Given the description of an element on the screen output the (x, y) to click on. 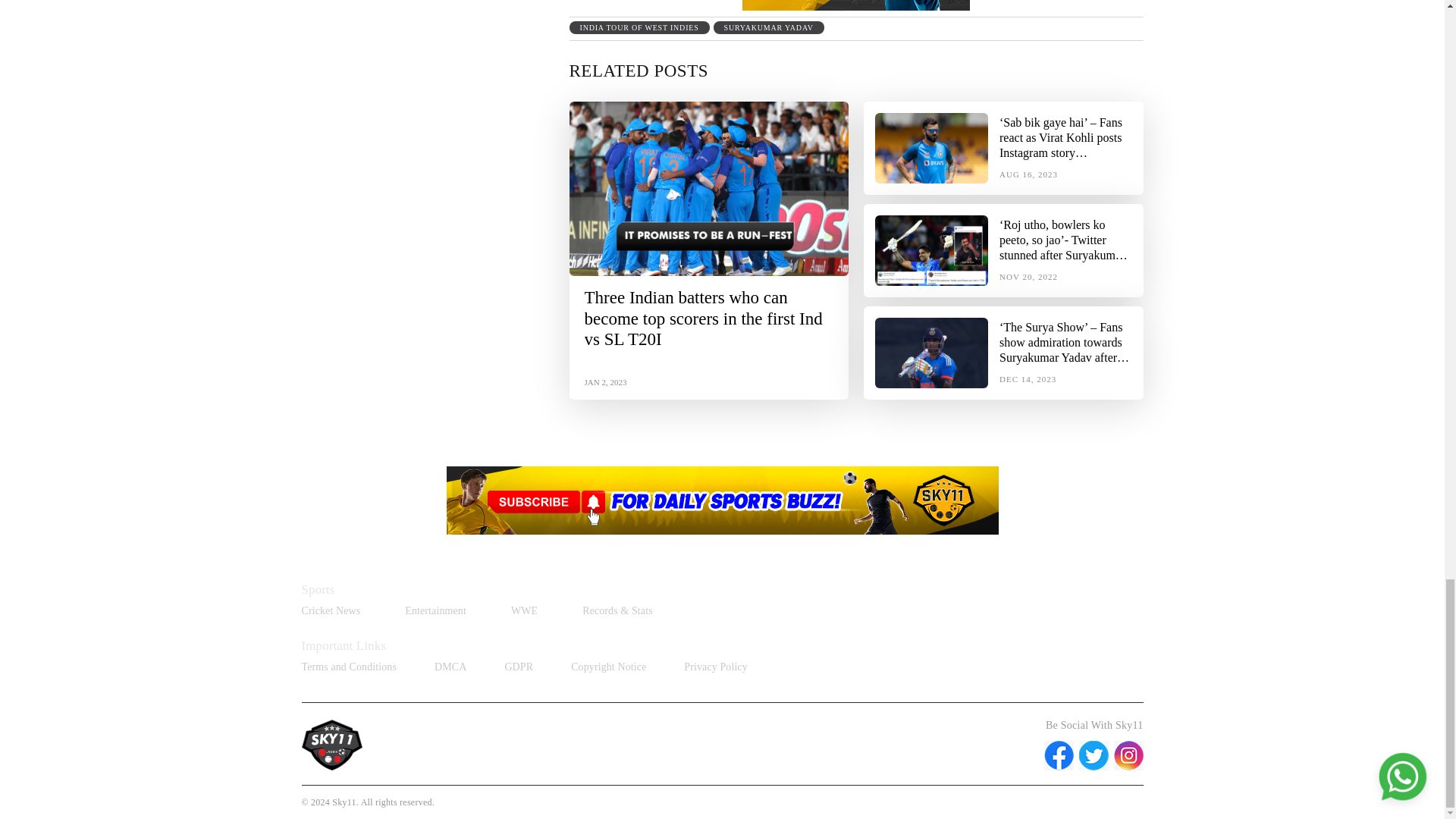
SURYAKUMAR YADAV (768, 27)
INDIA TOUR OF WEST INDIES (639, 27)
